Given the description of an element on the screen output the (x, y) to click on. 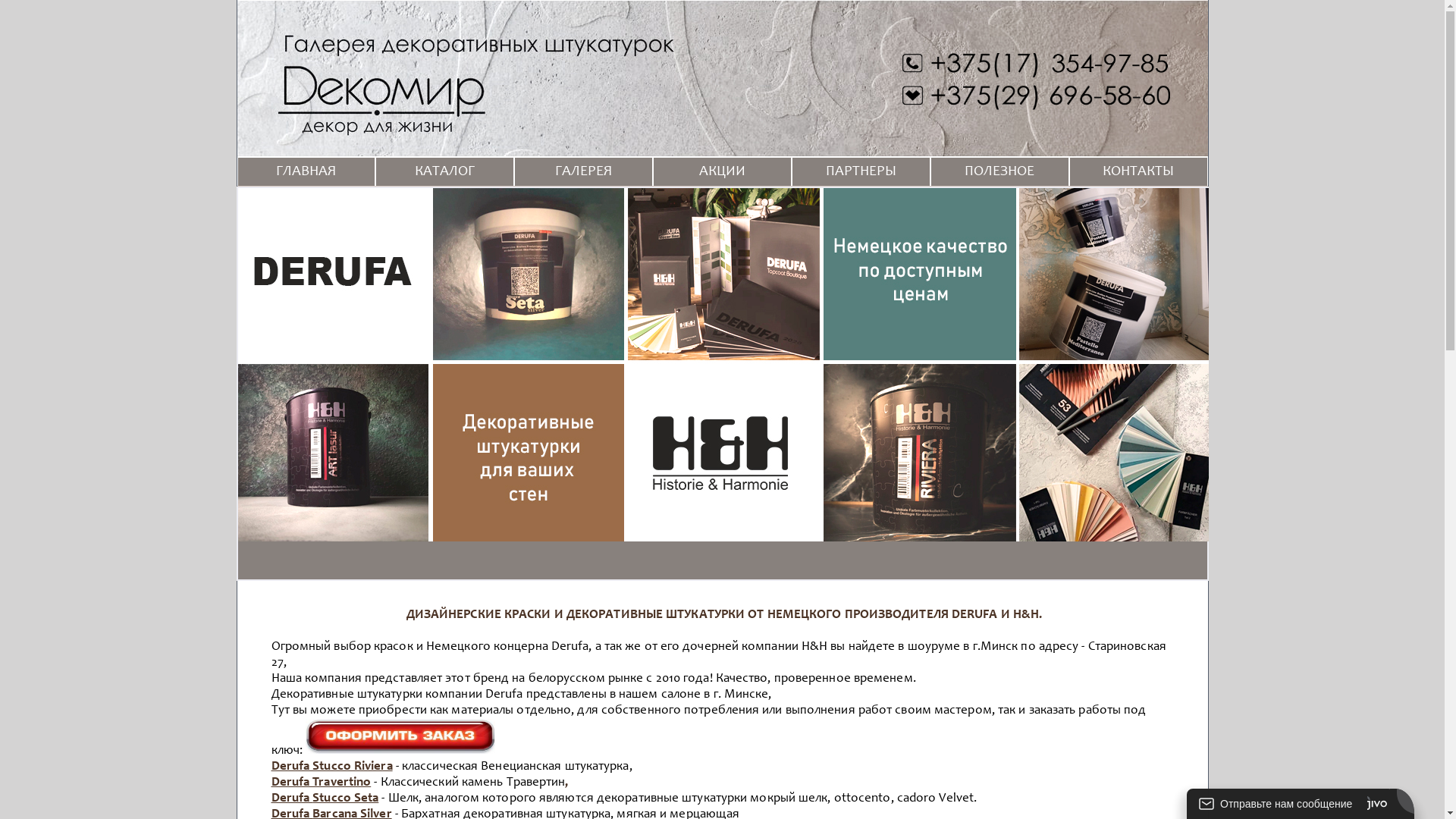
Derufa Stucco Riviera Element type: text (331, 766)
Derufa Stucco Seta Element type: text (325, 798)
Derufa Travertino Element type: text (321, 782)
